Given the description of an element on the screen output the (x, y) to click on. 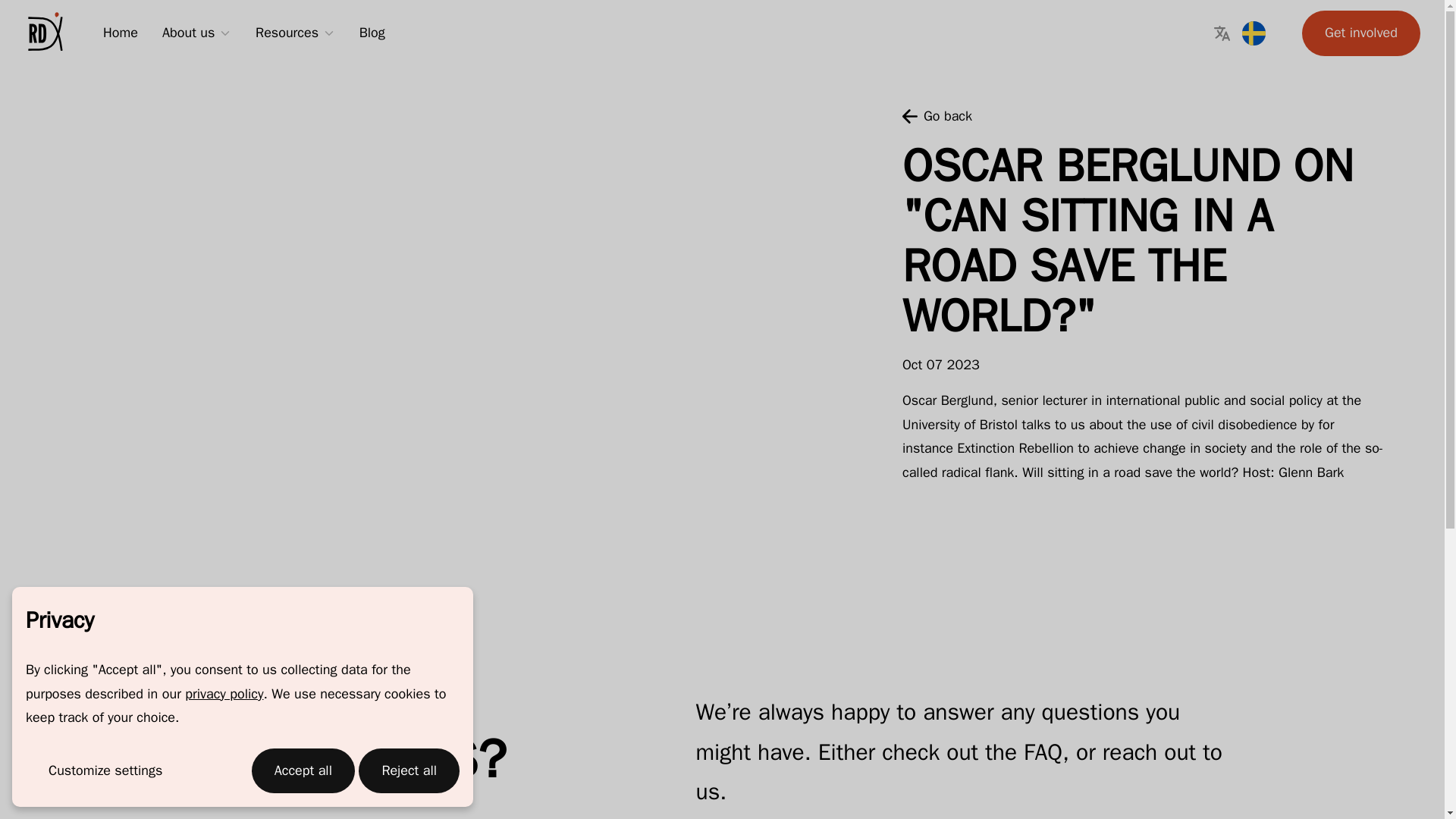
About us (187, 33)
Home (120, 33)
Go to the home page (45, 33)
Accept all (303, 770)
privacy policy (223, 693)
Resources (287, 33)
Blog (372, 33)
Go to the home page (45, 33)
Go back (937, 116)
Customize settings (105, 770)
Get involved (1361, 33)
Reject all (409, 770)
